Given the description of an element on the screen output the (x, y) to click on. 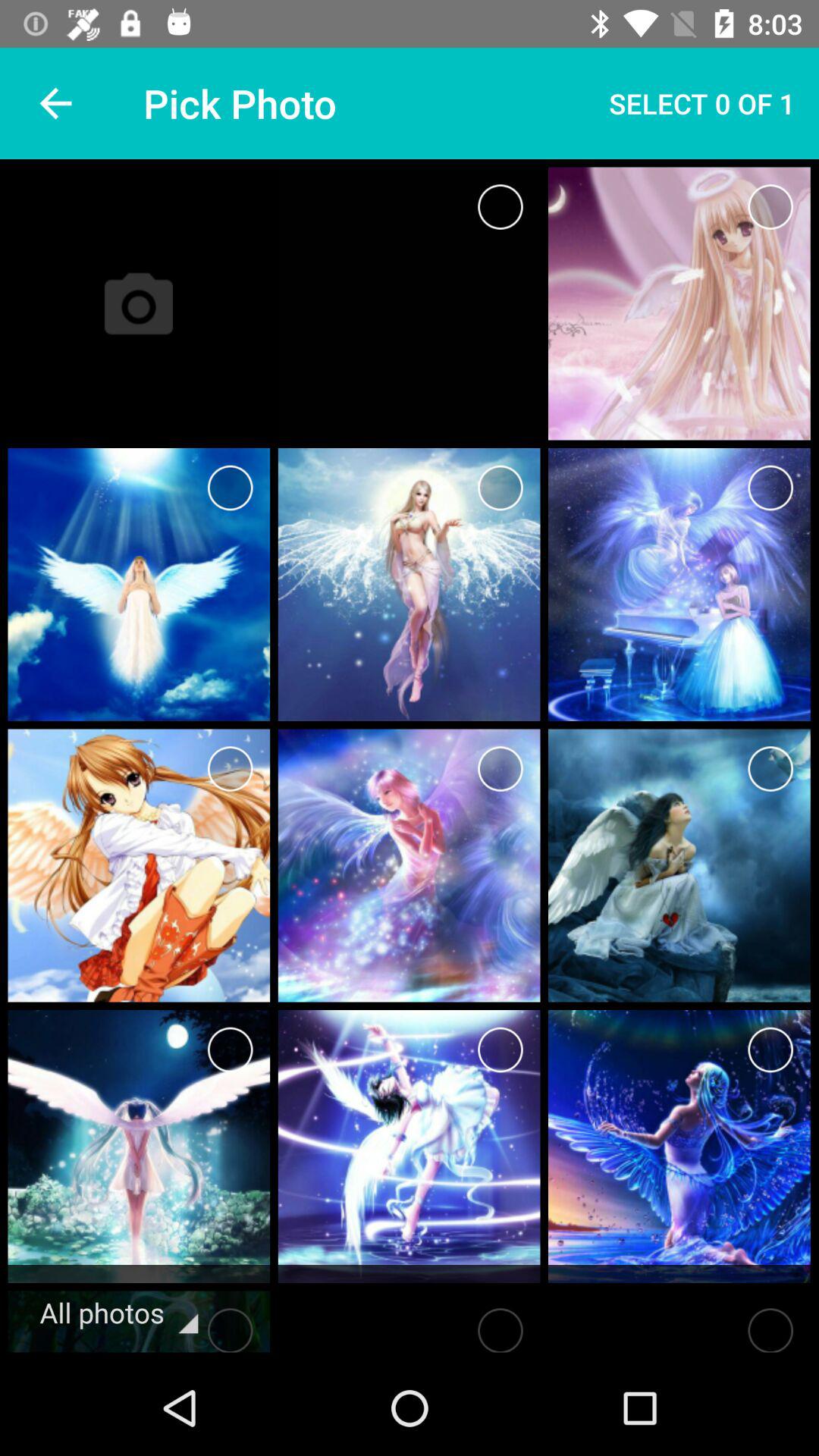
to select something (500, 206)
